Given the description of an element on the screen output the (x, y) to click on. 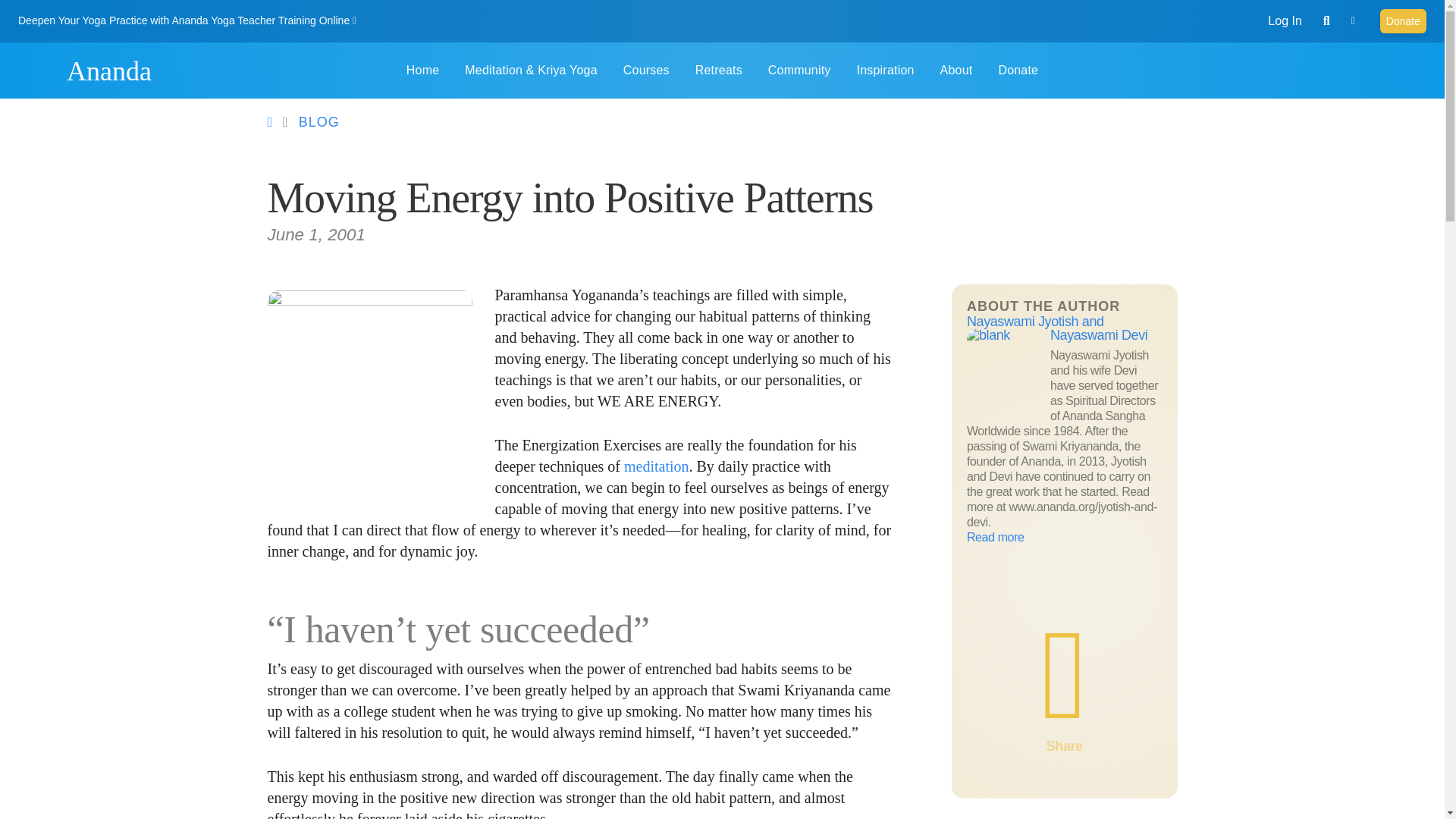
Home (422, 70)
meditation (656, 466)
Home (39, 70)
Home (108, 71)
Courses (646, 70)
Log In (1284, 20)
jyotish-devi-profile-2 (368, 391)
Donate (1403, 21)
Ananda (108, 71)
Ananda (39, 70)
